Given the description of an element on the screen output the (x, y) to click on. 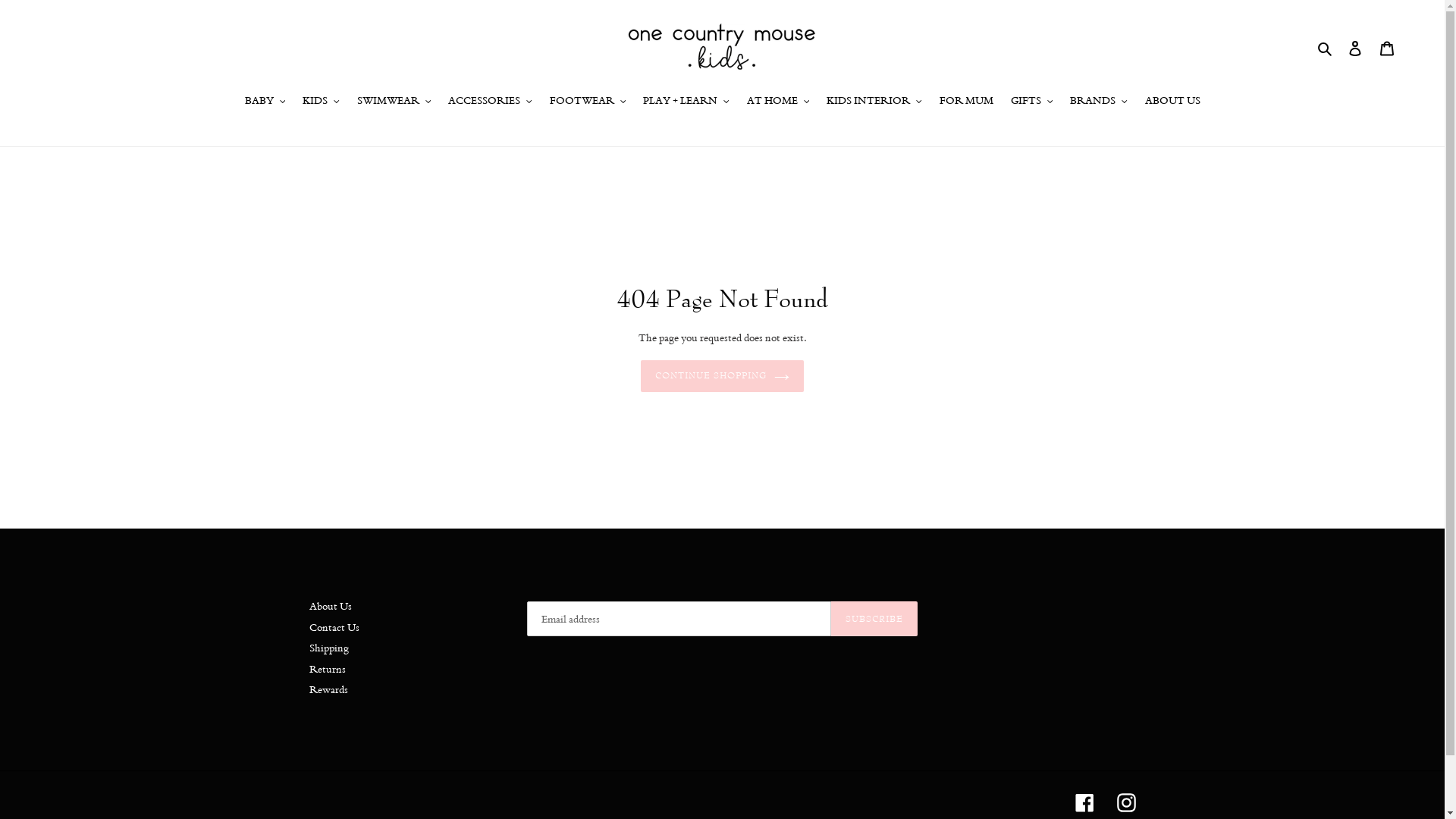
FOR MUM Element type: text (965, 101)
ABOUT US Element type: text (1172, 101)
SWIMWEAR Element type: text (393, 101)
Returns Element type: text (327, 668)
Instagram Element type: text (1125, 802)
Rewards Element type: text (328, 689)
KIDS Element type: text (320, 101)
Cart Element type: text (1386, 47)
PLAY + LEARN Element type: text (686, 101)
Shipping Element type: text (328, 648)
BRANDS Element type: text (1098, 101)
GIFTS Element type: text (1031, 101)
Search Element type: text (1325, 46)
ACCESSORIES Element type: text (489, 101)
About Us Element type: text (330, 606)
FOOTWEAR Element type: text (587, 101)
AT HOME Element type: text (777, 101)
KIDS INTERIOR Element type: text (874, 101)
Facebook Element type: text (1084, 802)
CONTINUE SHOPPING Element type: text (722, 376)
BABY Element type: text (264, 101)
Contact Us Element type: text (334, 626)
Log in Element type: text (1355, 47)
SUBSCRIBE Element type: text (874, 619)
